Given the description of an element on the screen output the (x, y) to click on. 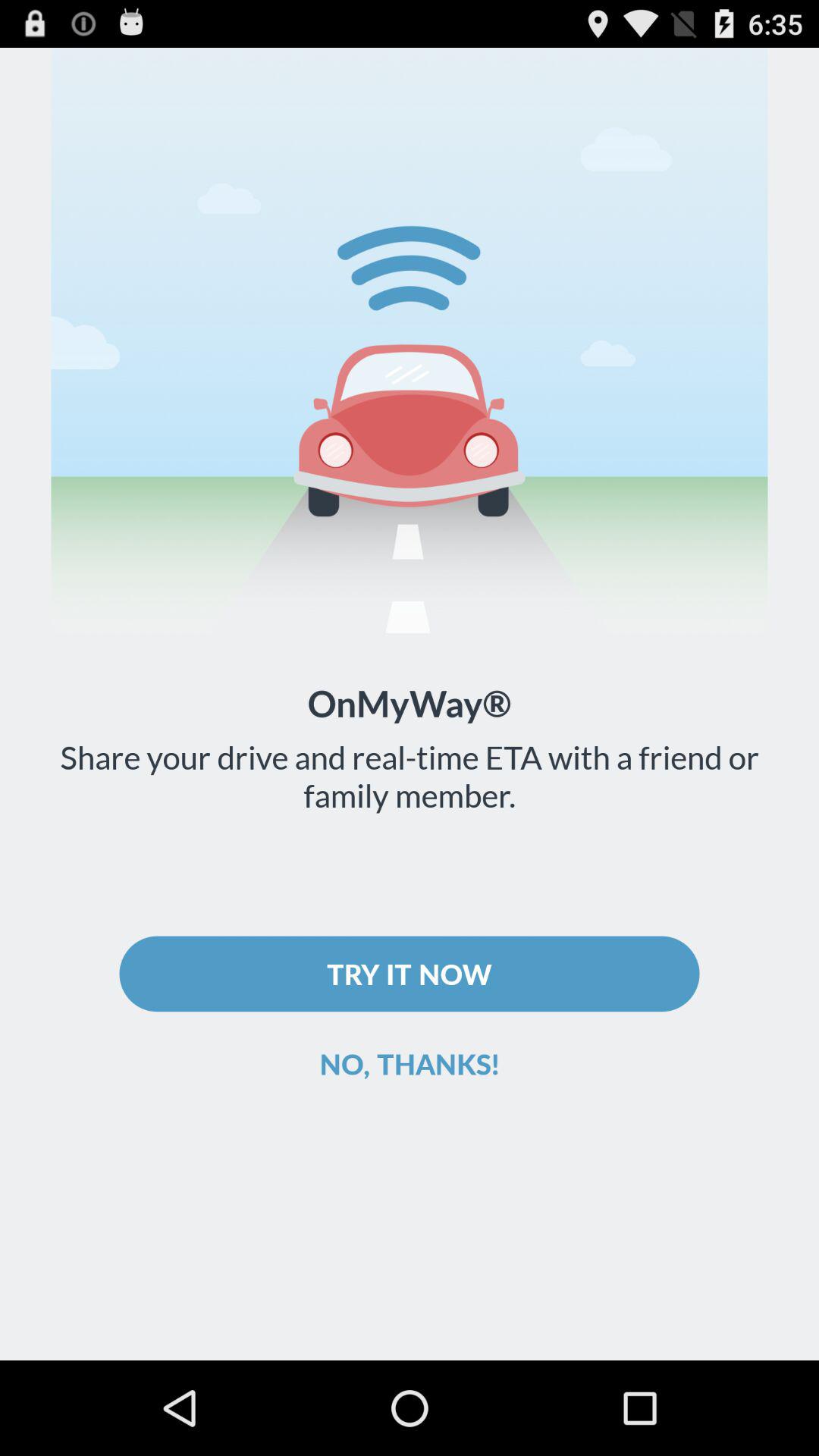
tap the try it now item (409, 973)
